Given the description of an element on the screen output the (x, y) to click on. 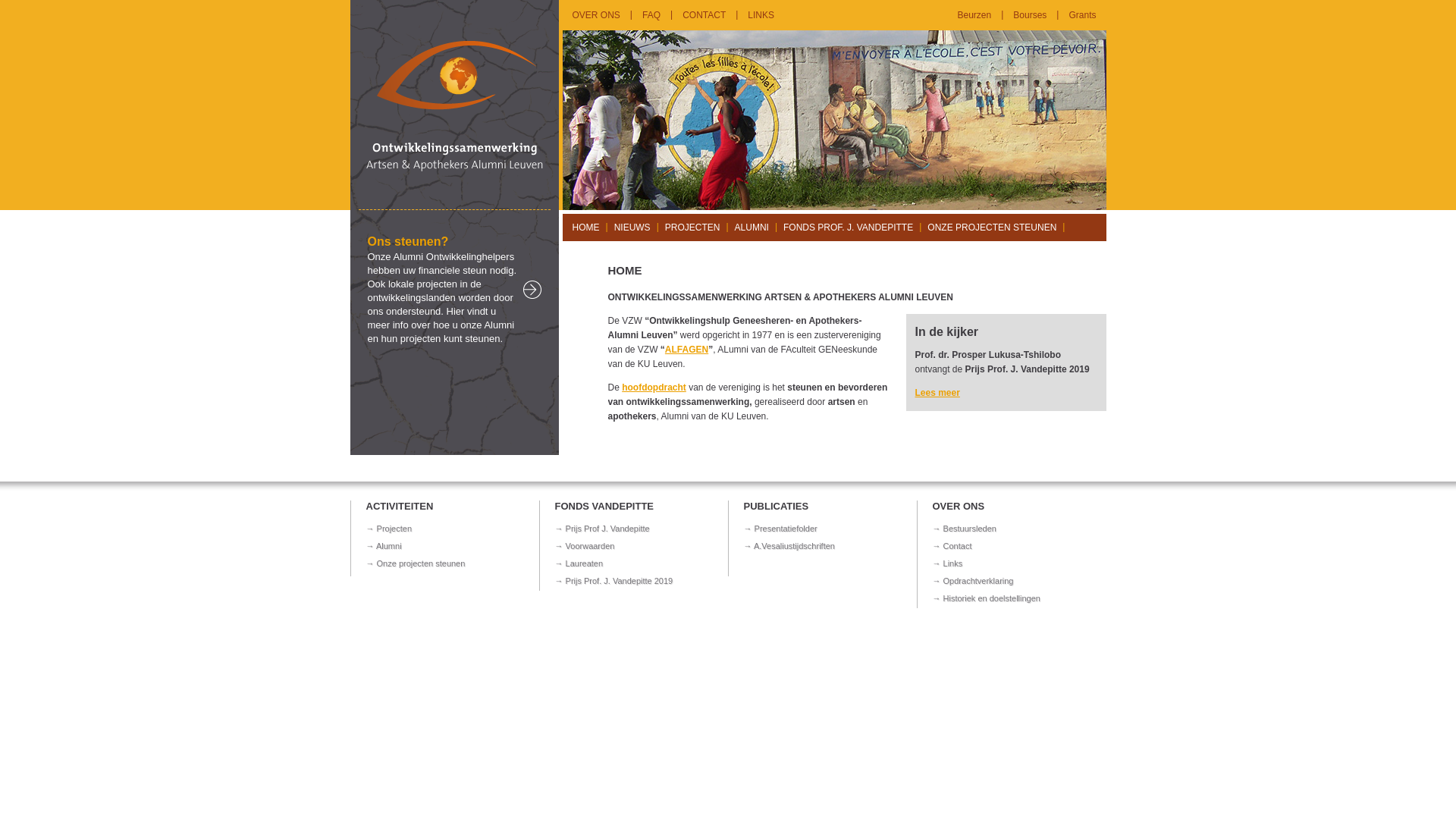
Alumni Ontwikkelingssamenwerking Leuven Element type: hover (454, 206)
ONZE PROJECTEN STEUNEN Element type: text (991, 227)
PROJECTEN Element type: text (692, 227)
Beurzen Element type: text (974, 15)
CONTACT Element type: text (703, 15)
LINKS Element type: text (760, 15)
hoofdopdracht Element type: text (653, 387)
NIEUWS Element type: text (632, 227)
Bourses Element type: text (1029, 15)
Grants Element type: text (1081, 15)
ALUMNI Element type: text (751, 227)
FONDS PROF. J. VANDEPITTE Element type: text (848, 227)
OVER ONS Element type: text (596, 15)
Lees meer Element type: text (936, 392)
HOME Element type: text (585, 227)
ALFAGEN Element type: text (686, 349)
FAQ Element type: text (651, 15)
